Given the description of an element on the screen output the (x, y) to click on. 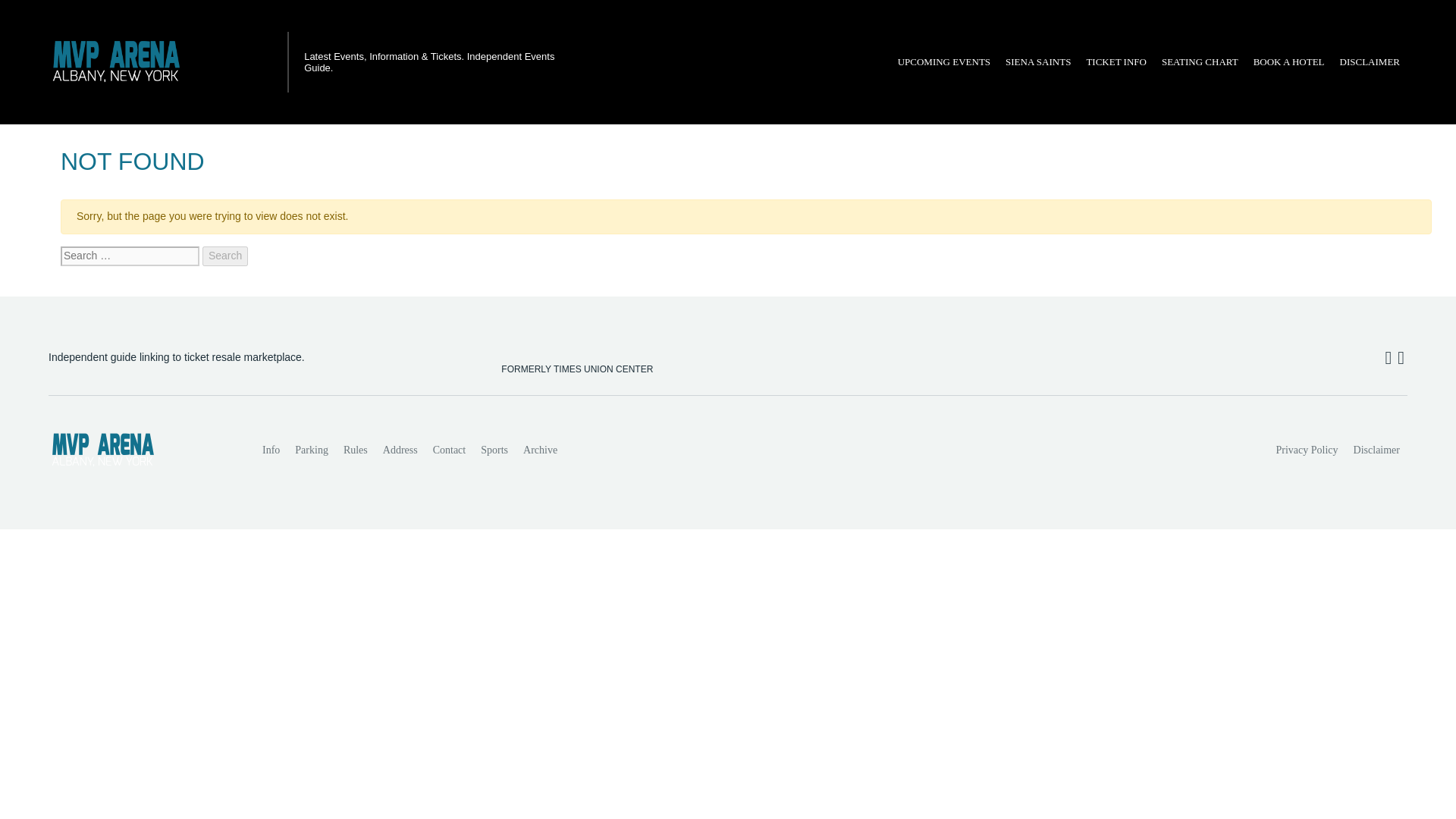
Info (270, 450)
Archive (539, 450)
BOOK A HOTEL (1289, 61)
Parking (311, 450)
Disclaimer (1376, 450)
UPCOMING EVENTS (943, 61)
SIENA SAINTS (1037, 61)
Address (400, 450)
Contact (449, 450)
Search (224, 256)
